Given the description of an element on the screen output the (x, y) to click on. 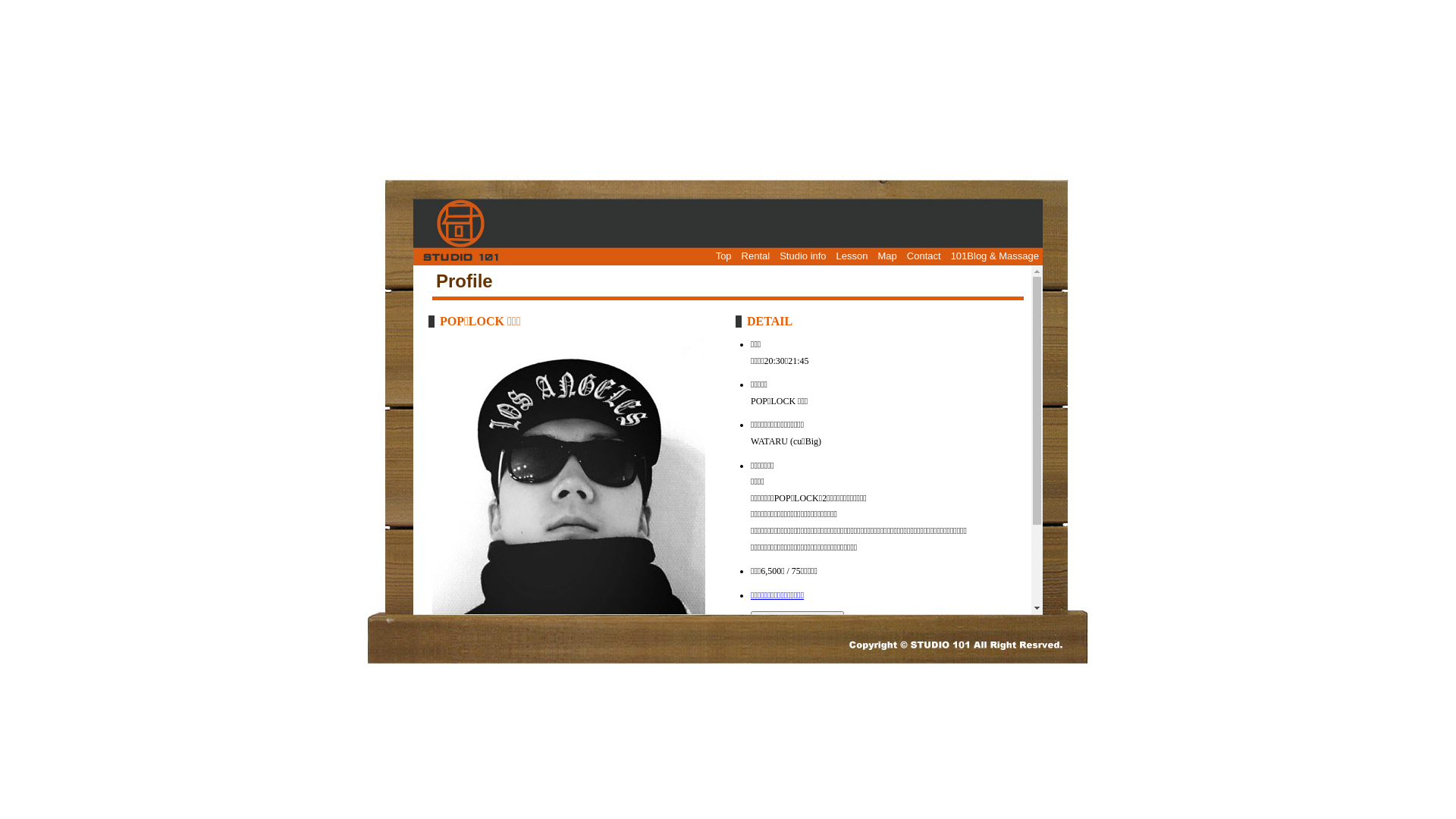
Contact Element type: text (923, 255)
101Blog & Massage Element type: text (994, 255)
Rental Element type: text (755, 255)
Studio info Element type: text (802, 255)
Map Element type: text (887, 255)
Lesson Element type: text (852, 255)
Top Element type: text (723, 255)
